Given the description of an element on the screen output the (x, y) to click on. 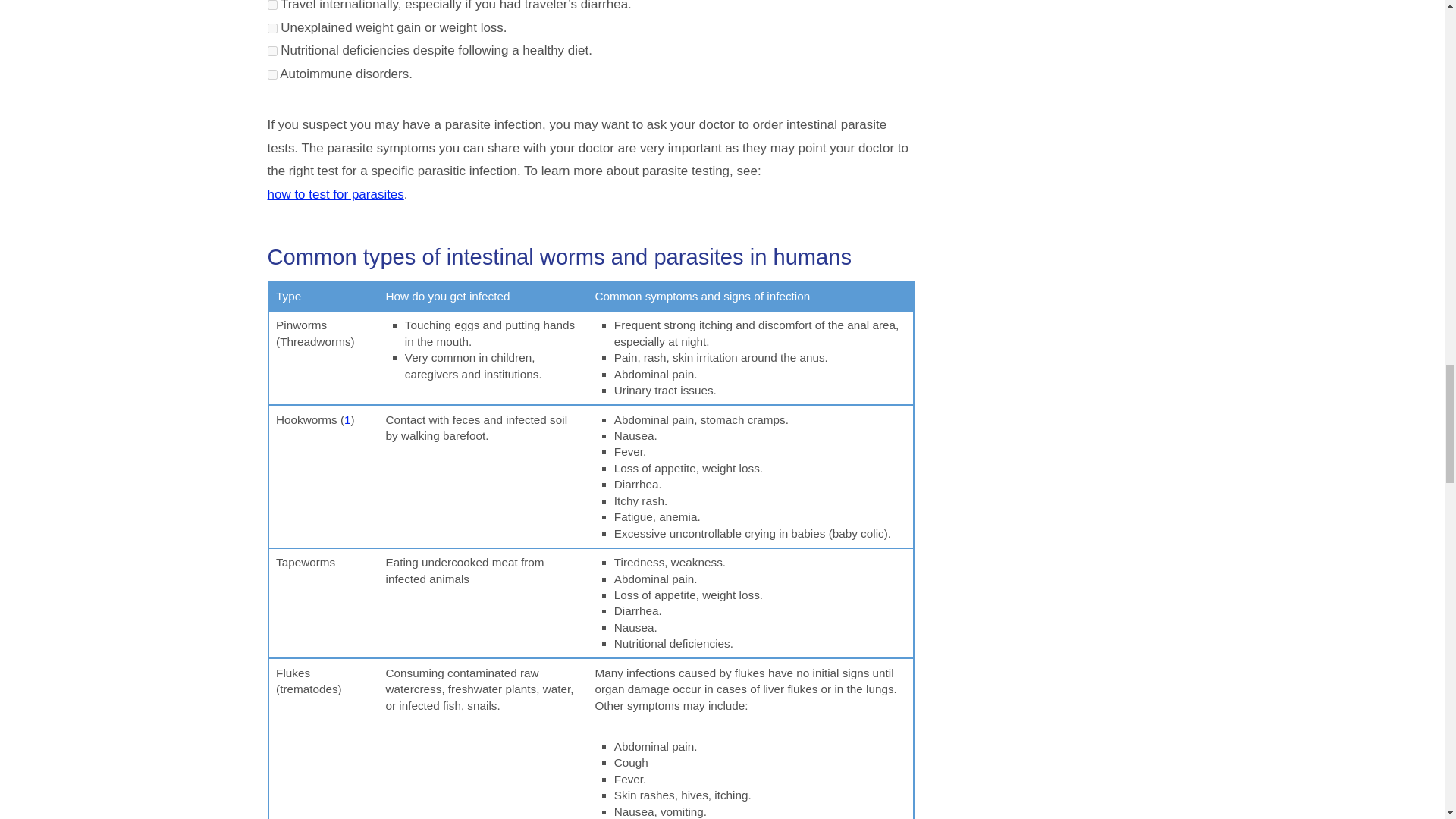
10 (271, 74)
10 (271, 50)
10 (271, 28)
10 (271, 4)
